Given the description of an element on the screen output the (x, y) to click on. 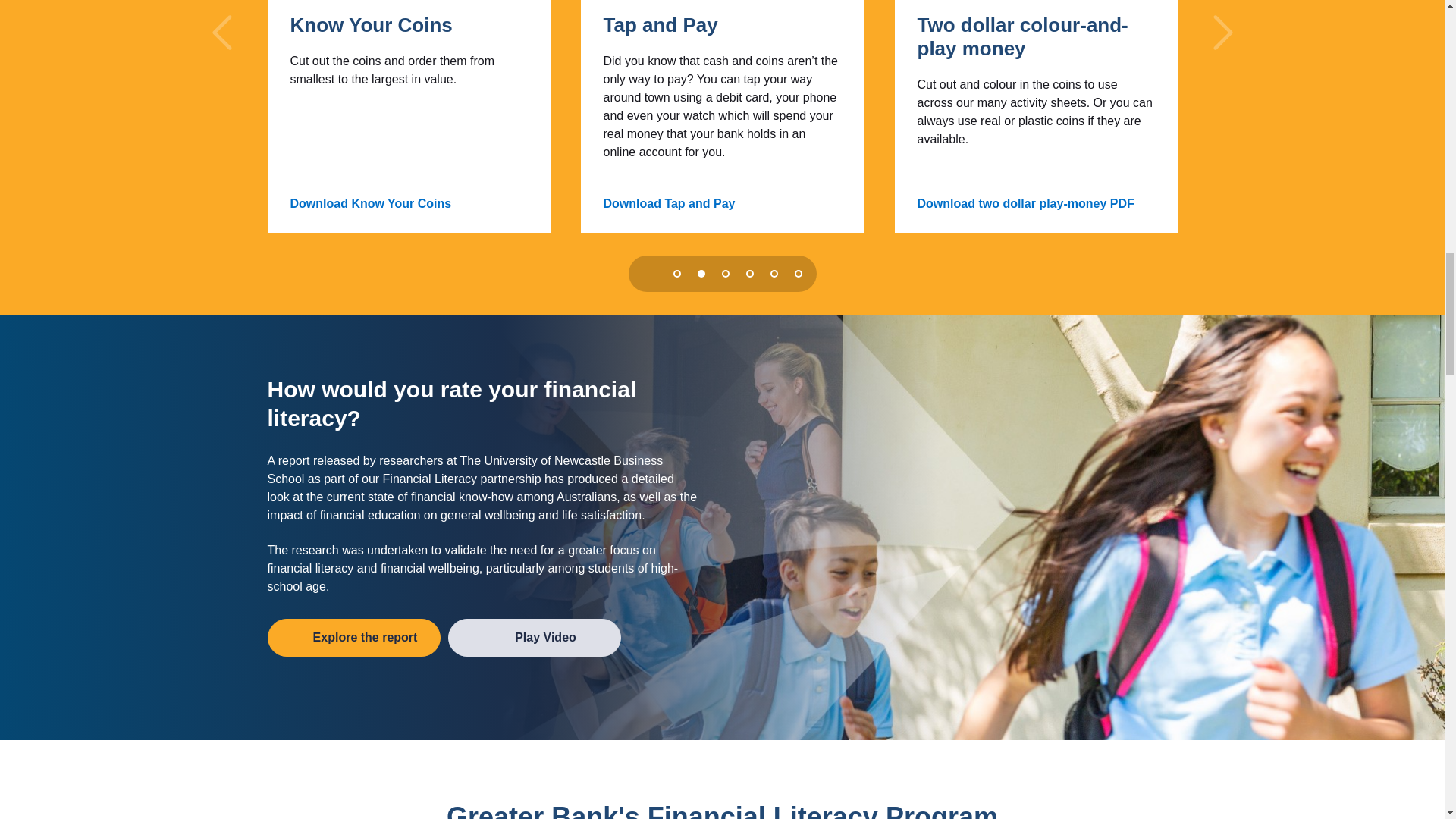
Two dollar colour-and-play money (1035, 36)
Download Know Your Coins (374, 203)
Auto rotate items (645, 273)
Download Tap and Pay (674, 203)
Download two dollar play-money PDF (1029, 203)
Know Your Coins (370, 24)
Tap and Pay (660, 24)
